Given the description of an element on the screen output the (x, y) to click on. 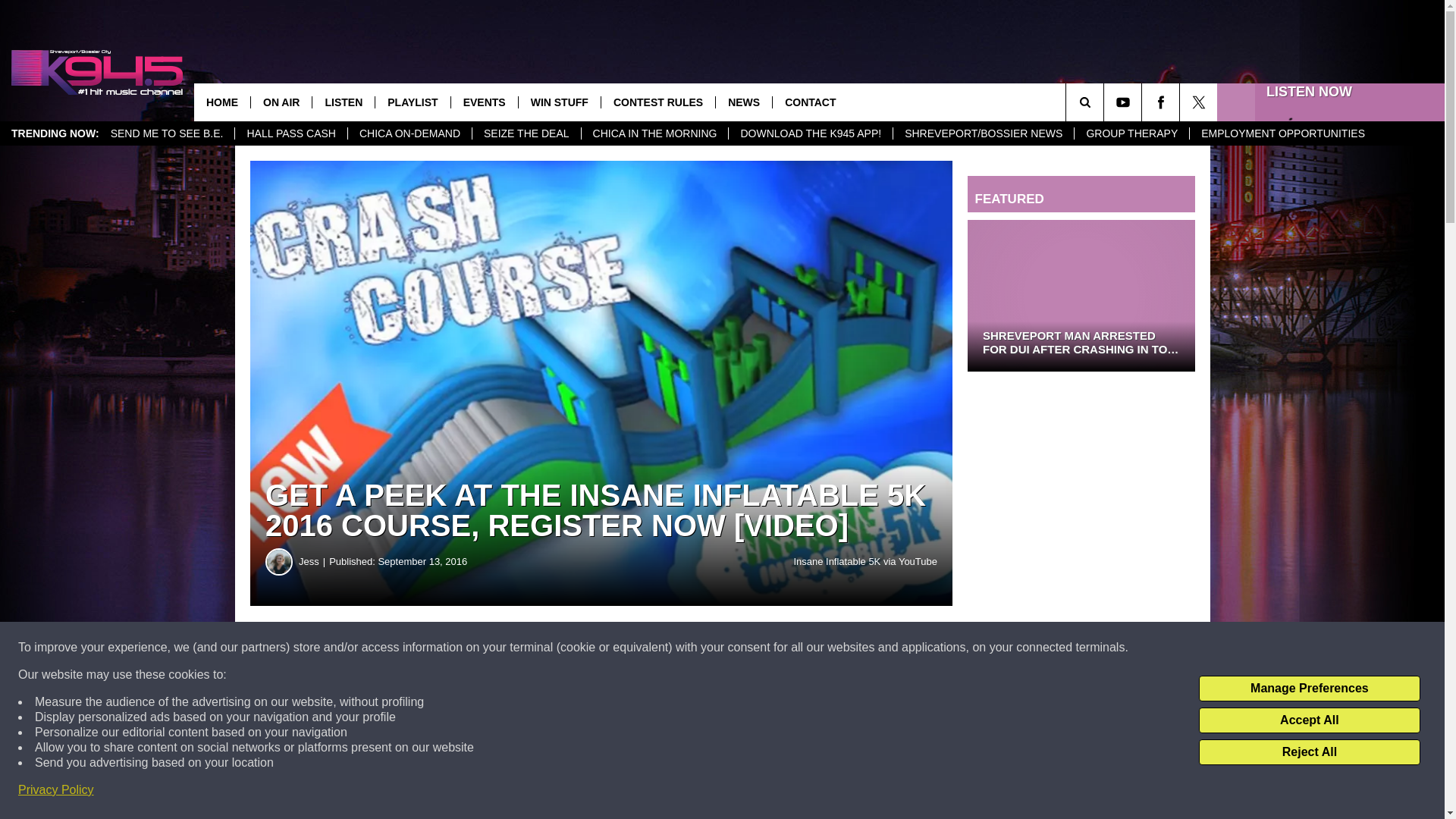
WIN STUFF (558, 102)
GROUP THERAPY (1131, 133)
Manage Preferences (1309, 688)
Reject All (1309, 751)
PLAYLIST (411, 102)
Privacy Policy (55, 789)
EVENTS (483, 102)
DOWNLOAD THE K945 APP! (810, 133)
CHICA IN THE MORNING (654, 133)
EMPLOYMENT OPPORTUNITIES (1282, 133)
